Given the description of an element on the screen output the (x, y) to click on. 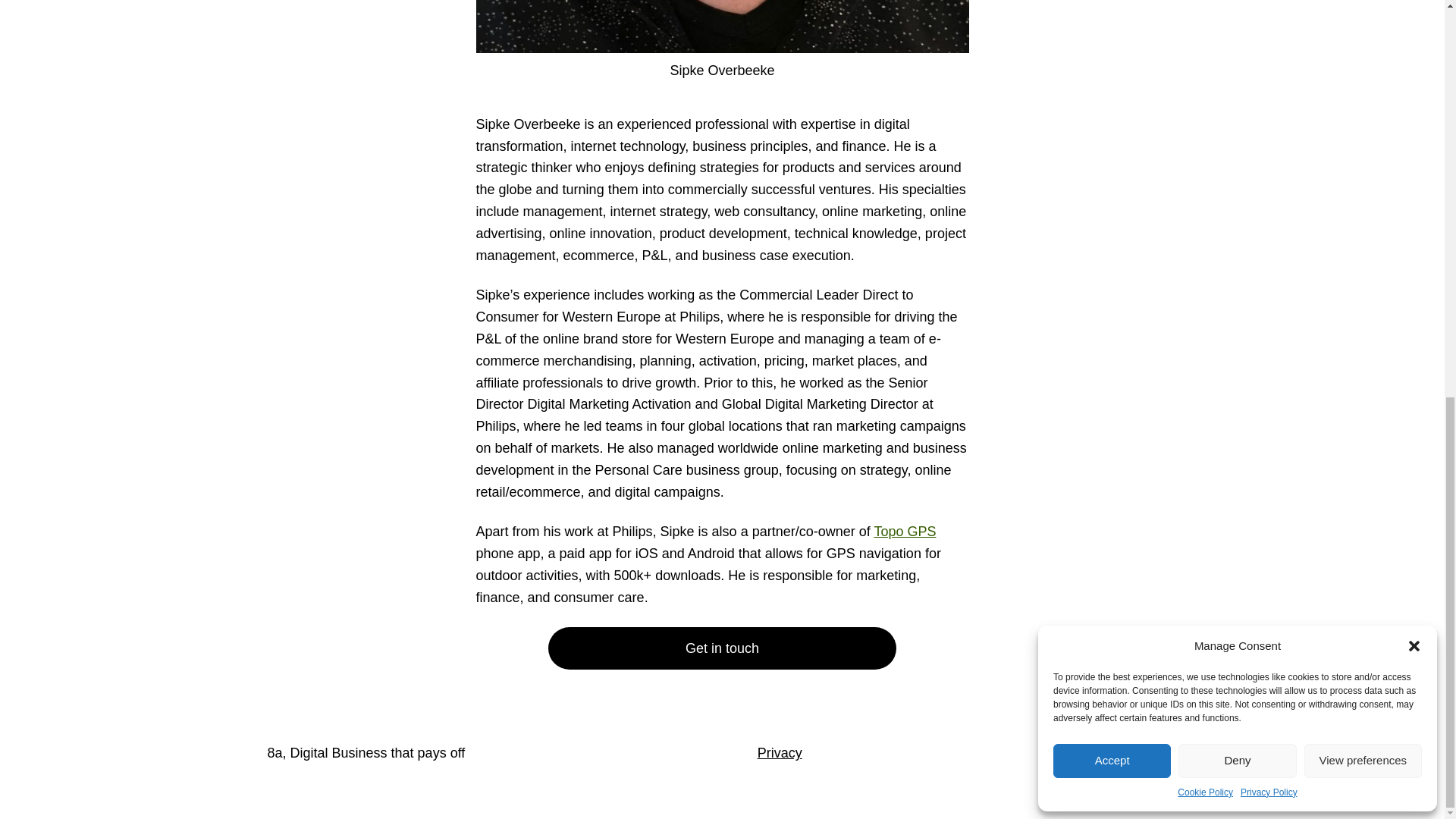
Deny (1236, 4)
8a, Digital Business that pays off (365, 752)
Cookie Policy (1205, 22)
Privacy Policy (1268, 22)
View preferences (1363, 4)
Topo GPS (904, 531)
Privacy (779, 752)
Accept (1111, 4)
Get in touch (721, 648)
